Given the description of an element on the screen output the (x, y) to click on. 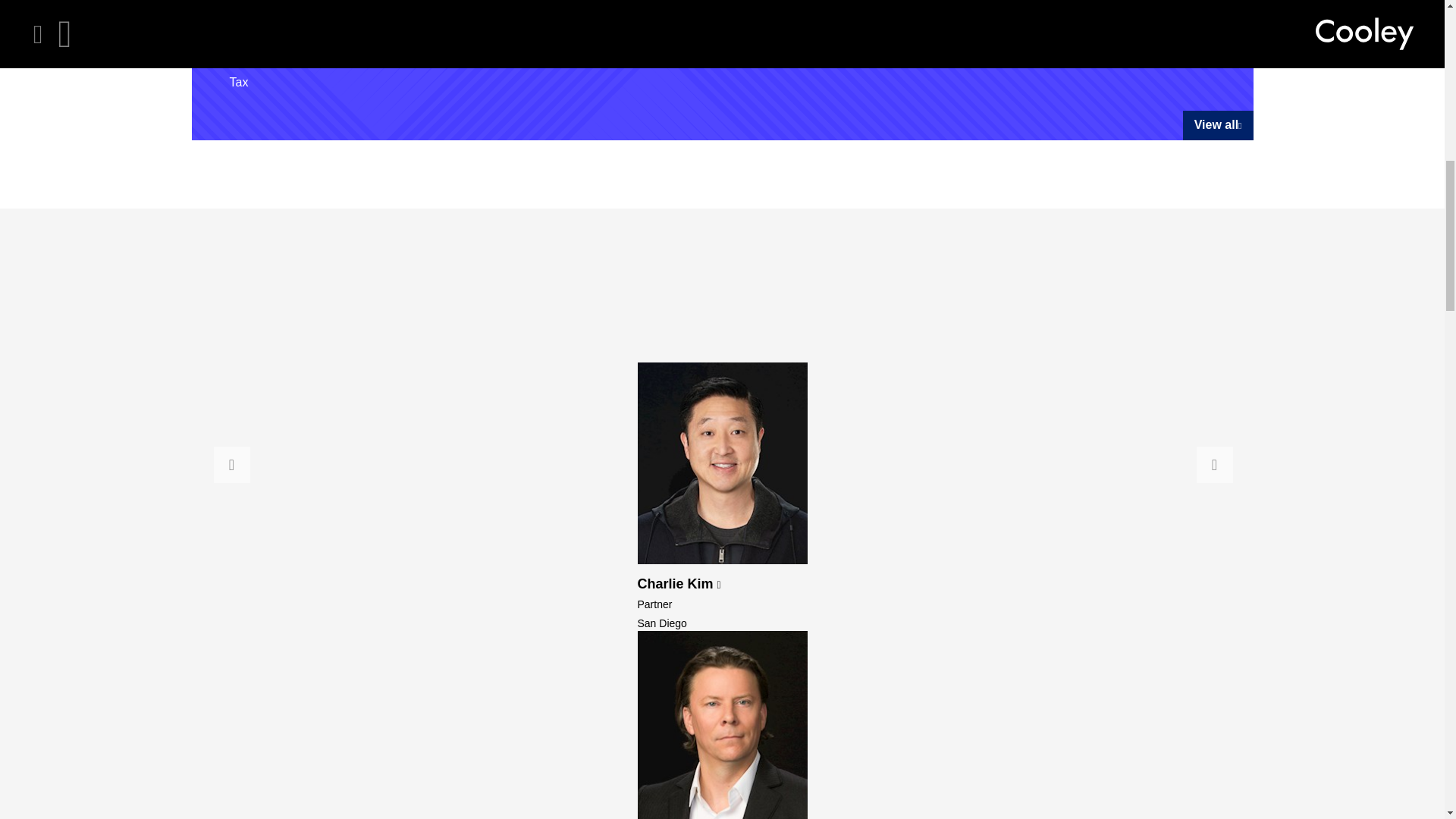
Patent Counseling and Prosecution (659, 54)
Life Sciences (935, 26)
View all (1217, 124)
Tax (237, 82)
Capital Markets (270, 26)
Charlie Kim (678, 583)
Healthcare (257, 54)
Public Companies (613, 26)
